Given the description of an element on the screen output the (x, y) to click on. 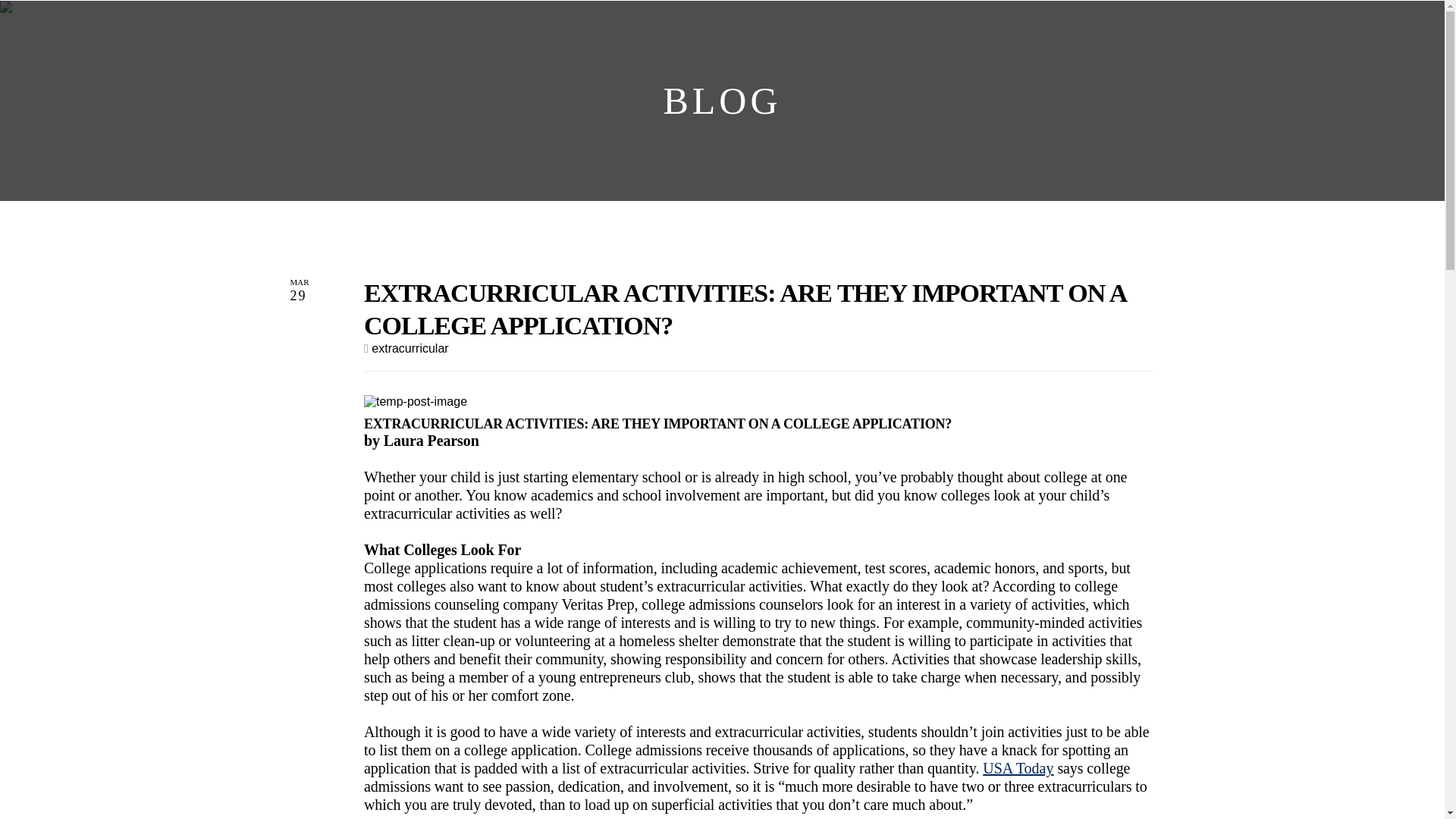
USA Today (1017, 768)
USA Today (1017, 768)
extracurricular (409, 348)
